Given the description of an element on the screen output the (x, y) to click on. 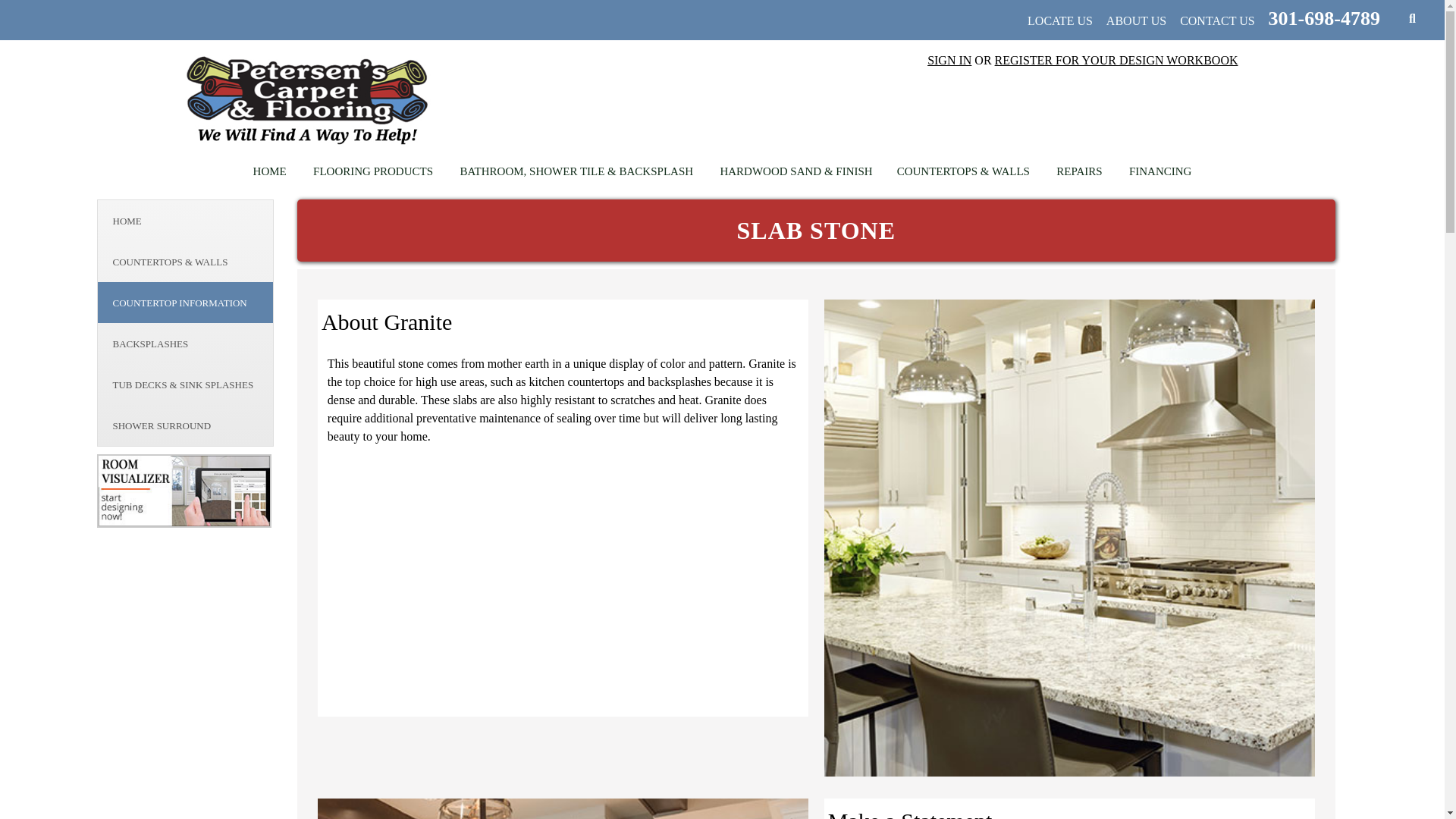
HOME (269, 170)
LOCATE US (1059, 20)
ABOUT US (1136, 20)
301-698-4789 (1321, 18)
FLOORING PRODUCTS (373, 170)
CONTACT US (1216, 20)
SIGN IN (949, 60)
REGISTER FOR YOUR DESIGN WORKBOOK (1116, 60)
